Given the description of an element on the screen output the (x, y) to click on. 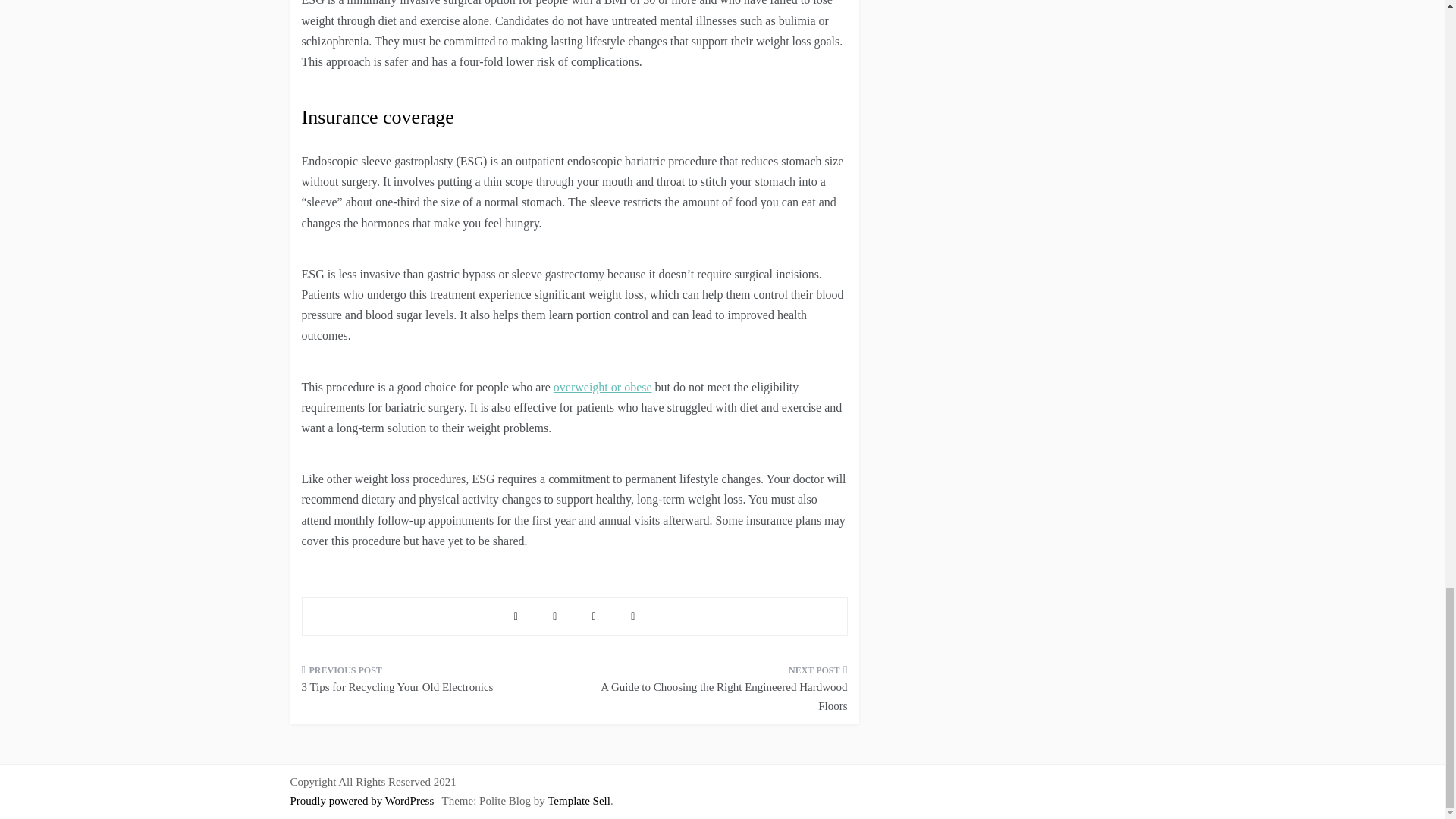
A Guide to Choosing the Right Engineered Hardwood Floors (716, 692)
3 Tips for Recycling Your Old Electronics (432, 683)
overweight or obese (602, 386)
